Given the description of an element on the screen output the (x, y) to click on. 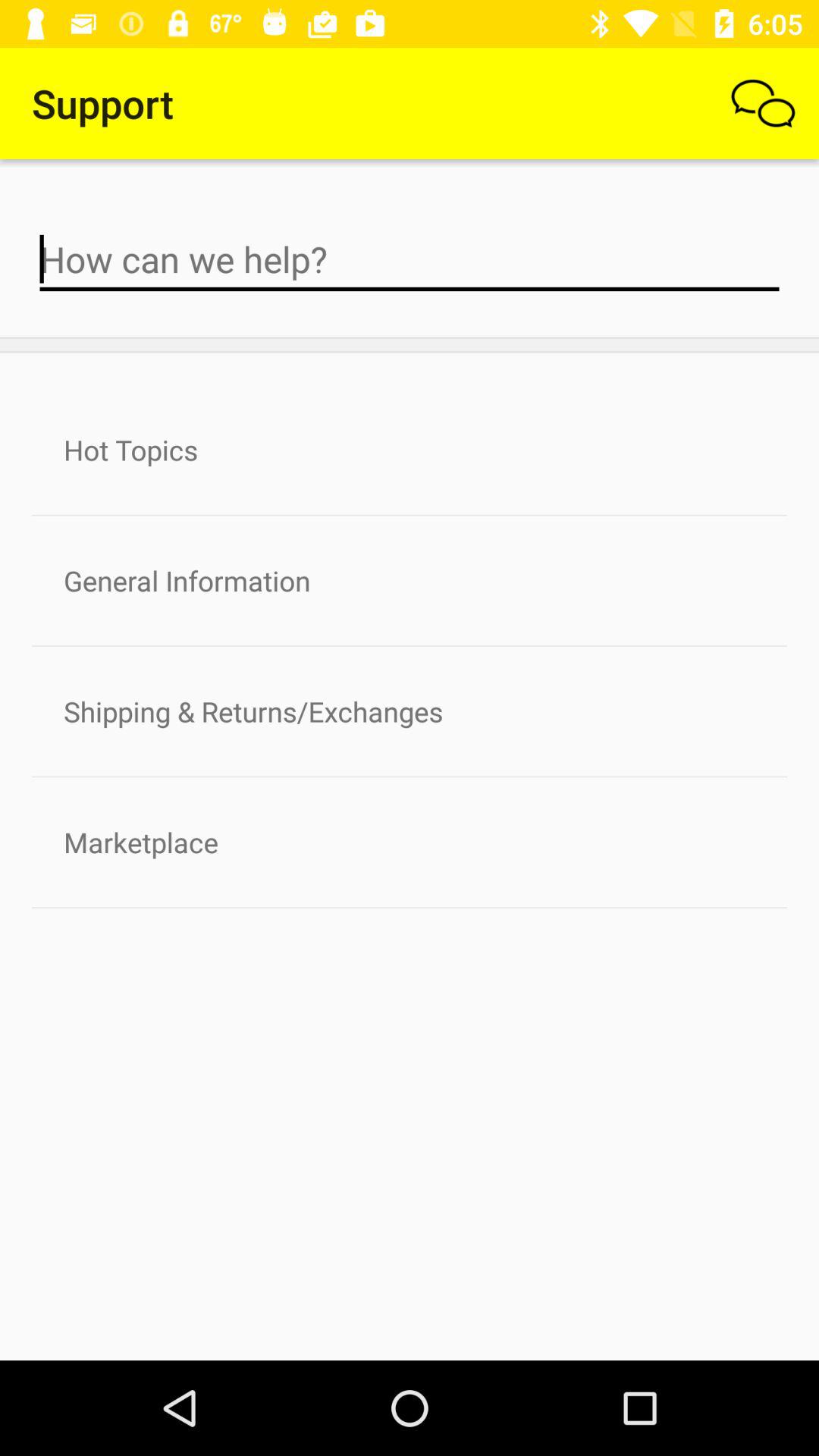
select the shipping & returns/exchanges item (409, 711)
